Given the description of an element on the screen output the (x, y) to click on. 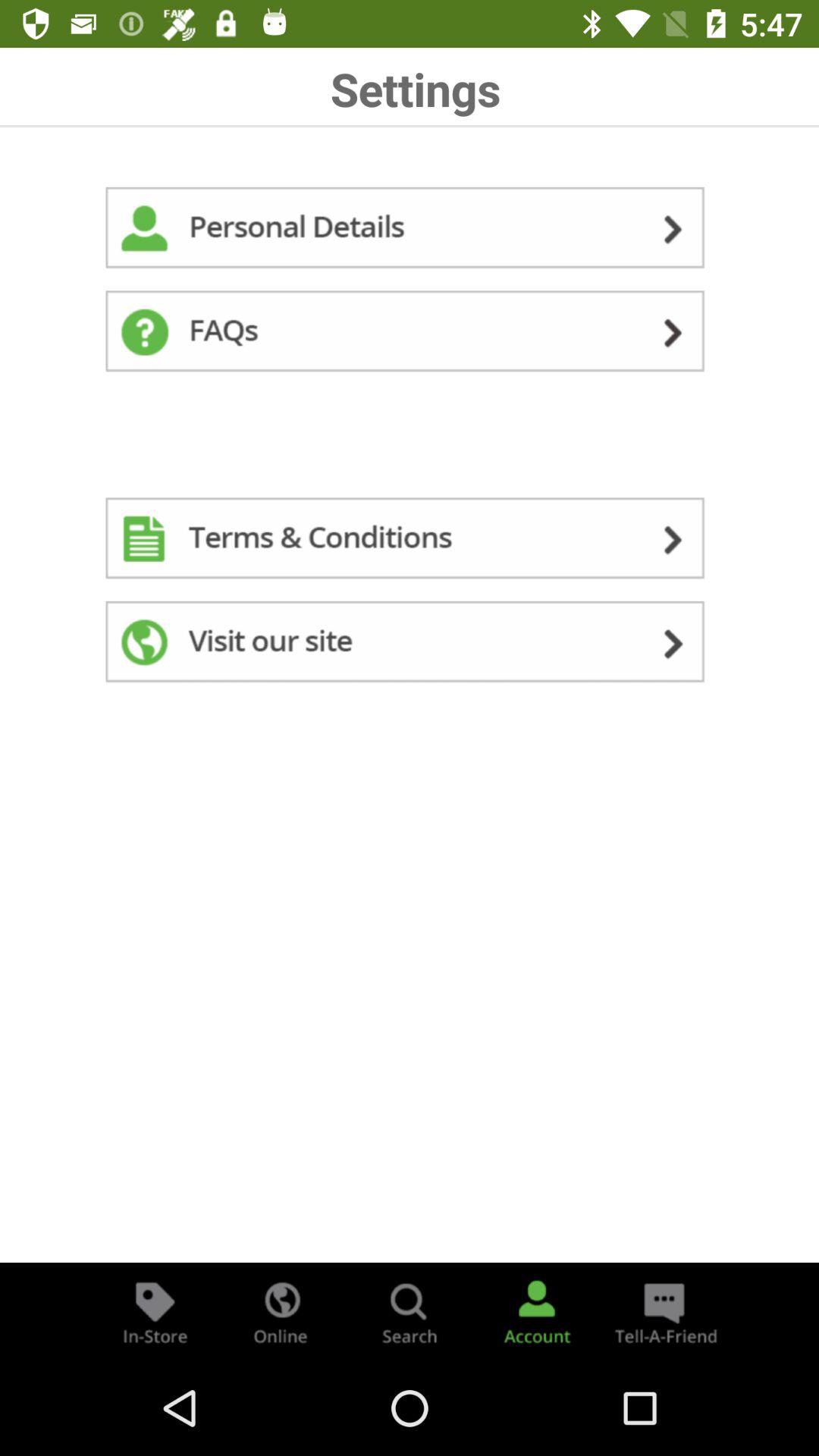
faqs for the content (409, 334)
